Given the description of an element on the screen output the (x, y) to click on. 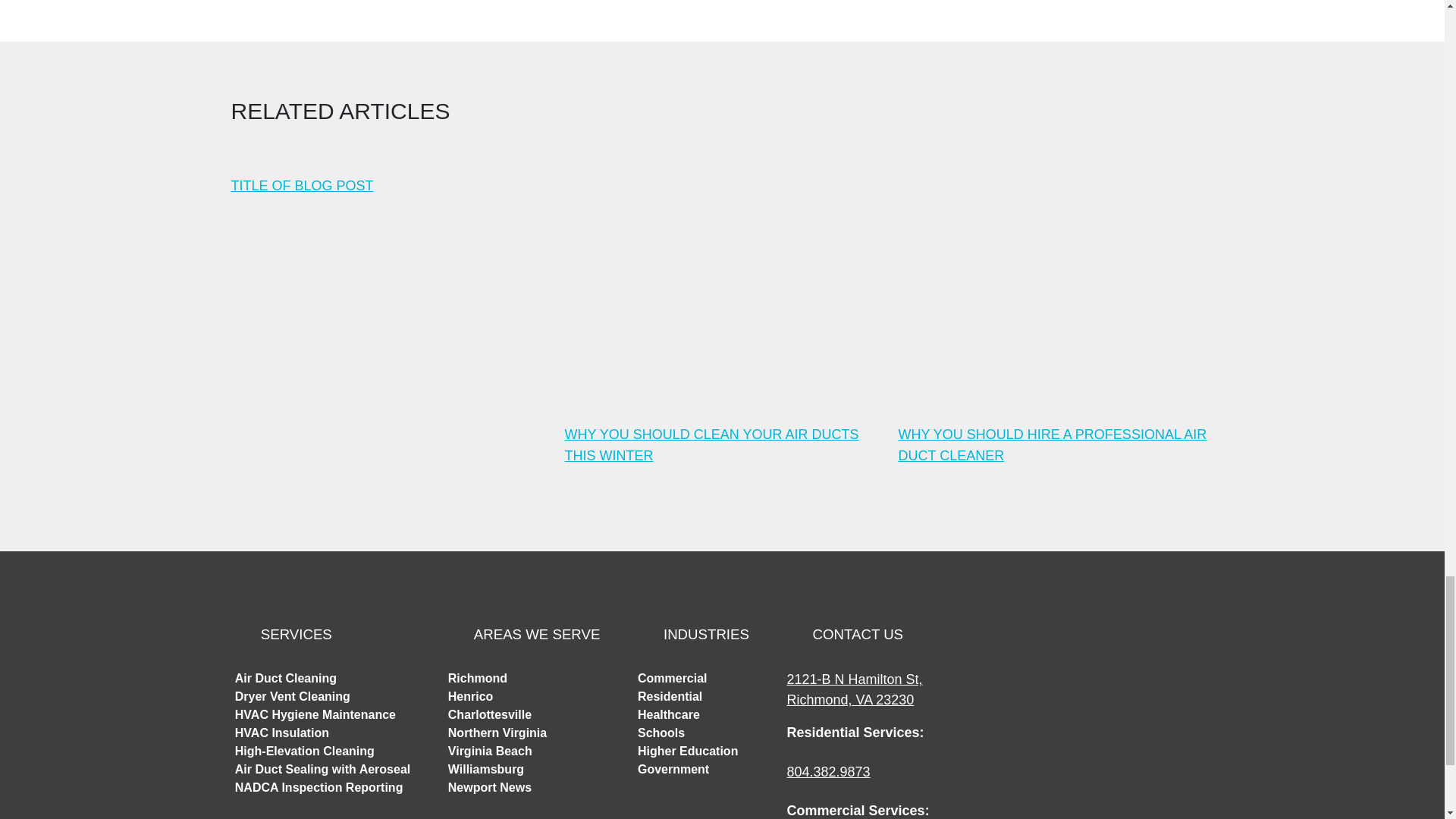
TITLE OF BLOG POST (388, 185)
WHY YOU SHOULD HIRE A PROFESSIONAL AIR DUCT CLEANER (1055, 317)
WHY YOU SHOULD CLEAN YOUR AIR DUCTS THIS WINTER (721, 317)
Air Duct Cleaning (285, 677)
